Given the description of an element on the screen output the (x, y) to click on. 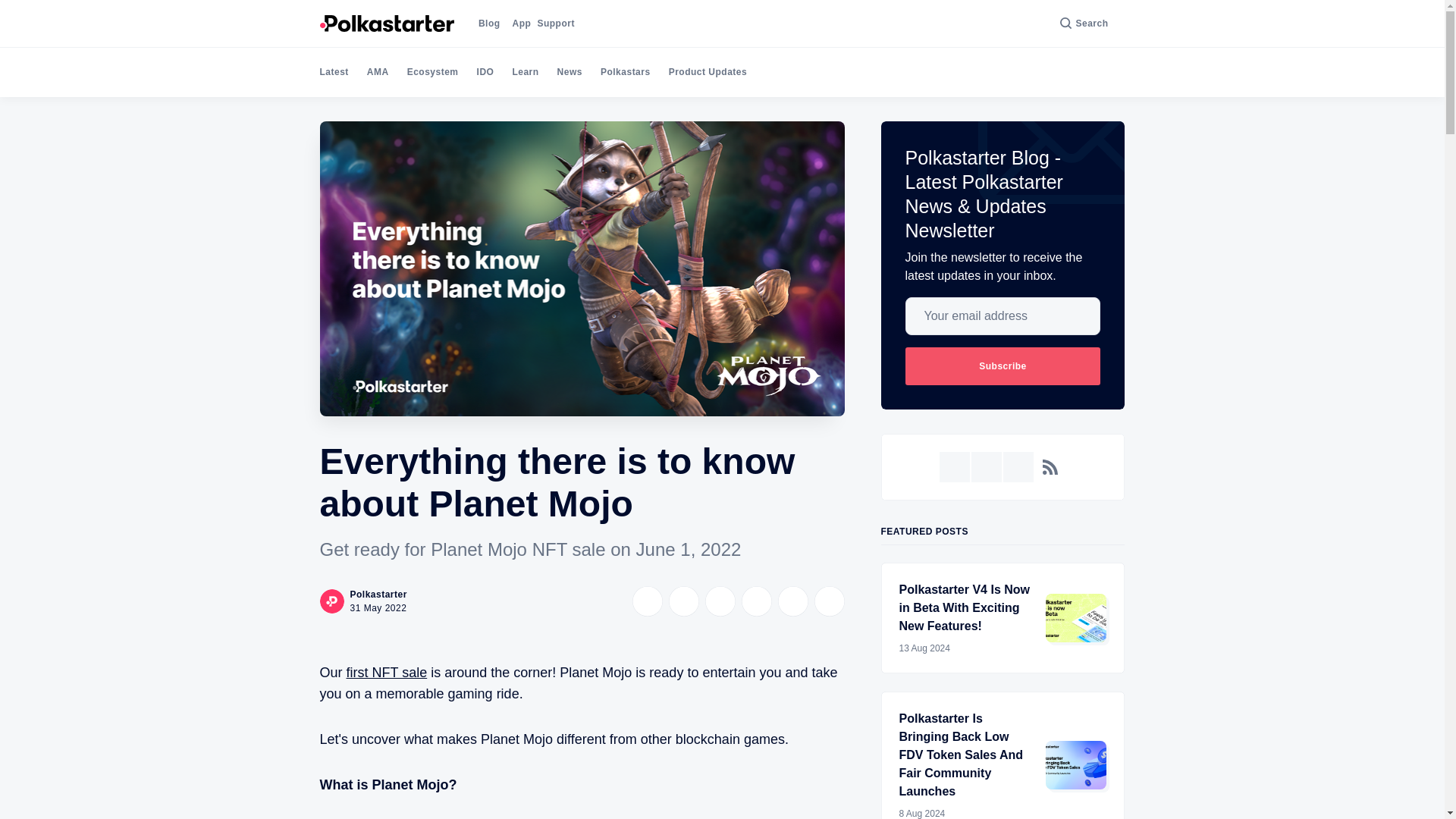
Product Updates (708, 71)
Ecosystem (432, 71)
first NFT sale (387, 672)
Search (1083, 23)
App (521, 23)
Support (556, 23)
Share on Twitter (646, 601)
Share on Facebook (683, 601)
Polkastarter (378, 593)
